Given the description of an element on the screen output the (x, y) to click on. 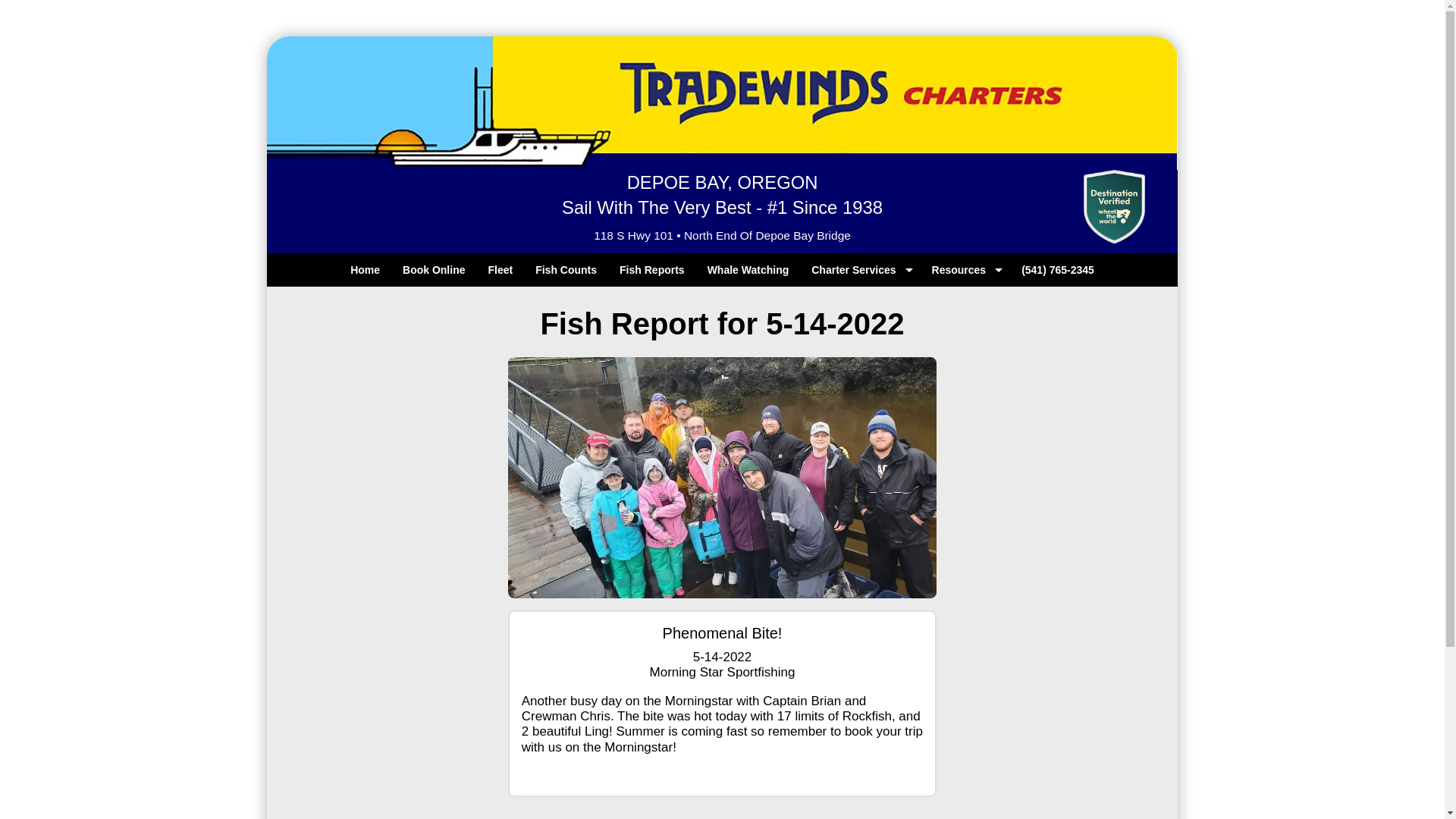
Fish Counts (566, 269)
Book Online (433, 269)
Resources (965, 269)
Home (365, 269)
Fish Reports (651, 269)
Whale Watching (747, 269)
Fleet (500, 269)
Charter Services (859, 269)
